Given the description of an element on the screen output the (x, y) to click on. 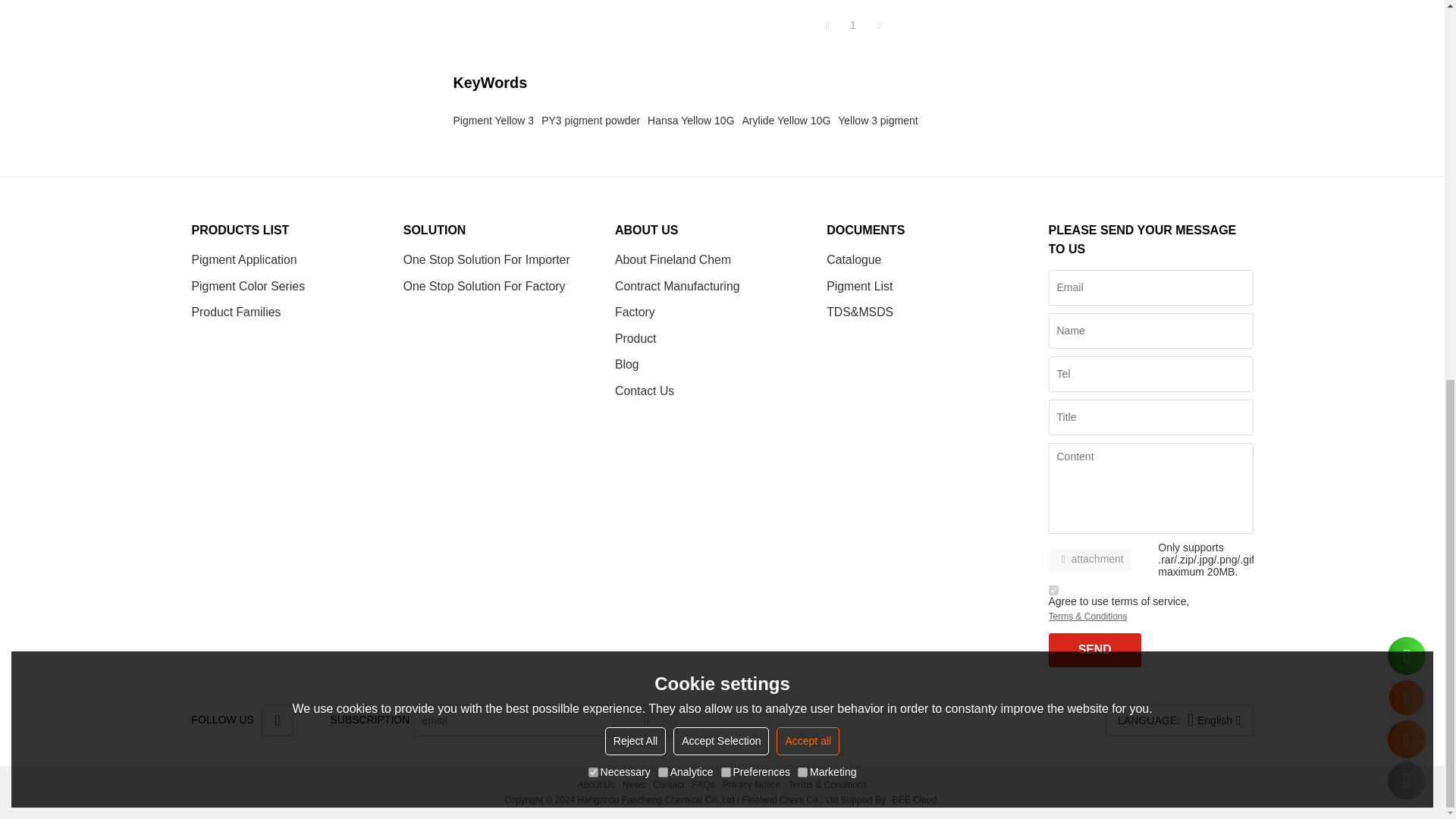
on (1053, 590)
on (802, 65)
on (593, 65)
on (663, 65)
on (725, 65)
